Given the description of an element on the screen output the (x, y) to click on. 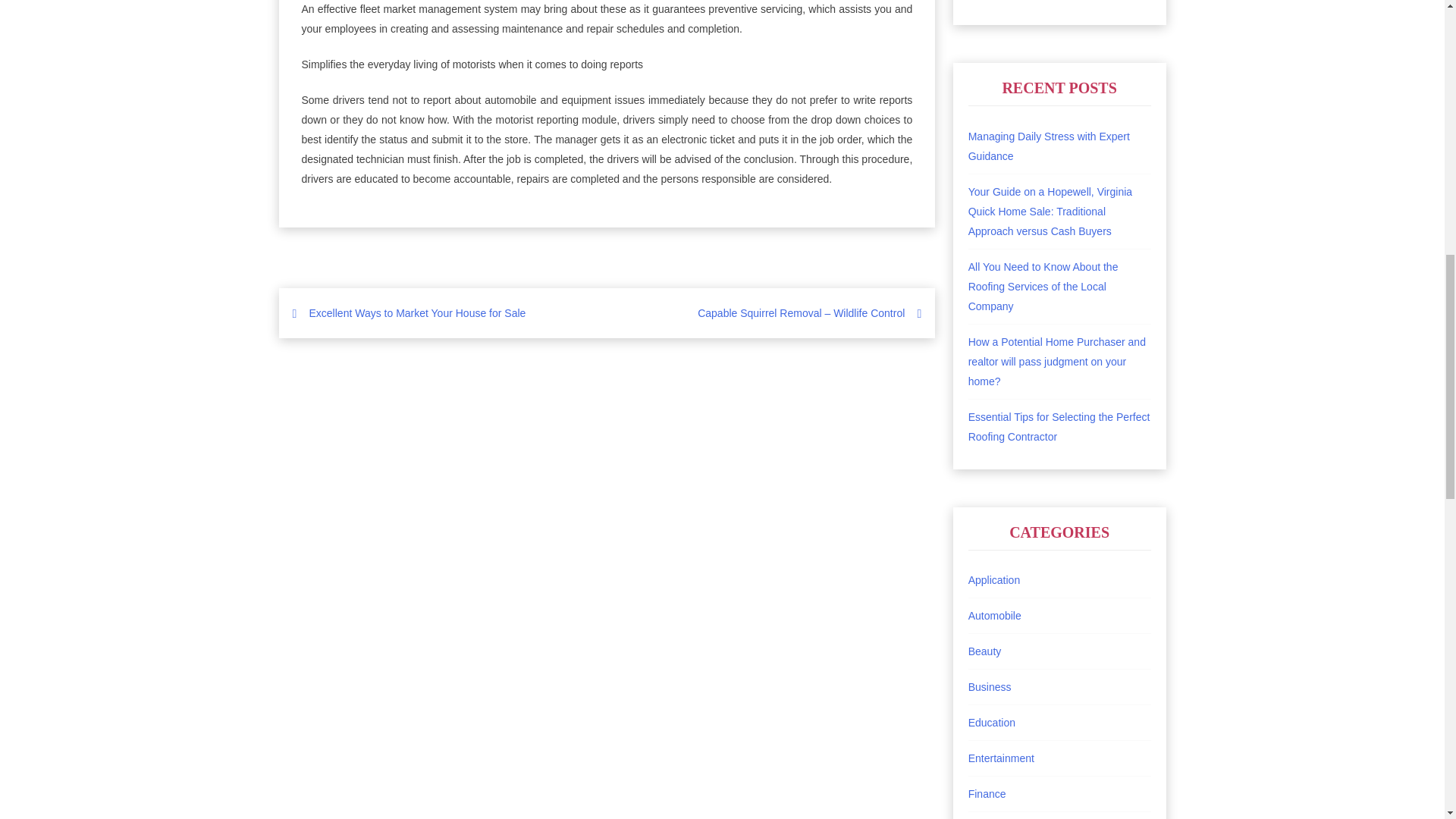
Managing Daily Stress with Expert Guidance (1048, 146)
Beauty (984, 651)
Entertainment (1000, 758)
Education (991, 722)
Essential Tips for Selecting the Perfect Roofing Contractor (1059, 427)
Application (994, 580)
Business (989, 686)
Automobile (995, 615)
Finance (987, 793)
Excellent Ways to Market Your House for Sale (416, 313)
